Given the description of an element on the screen output the (x, y) to click on. 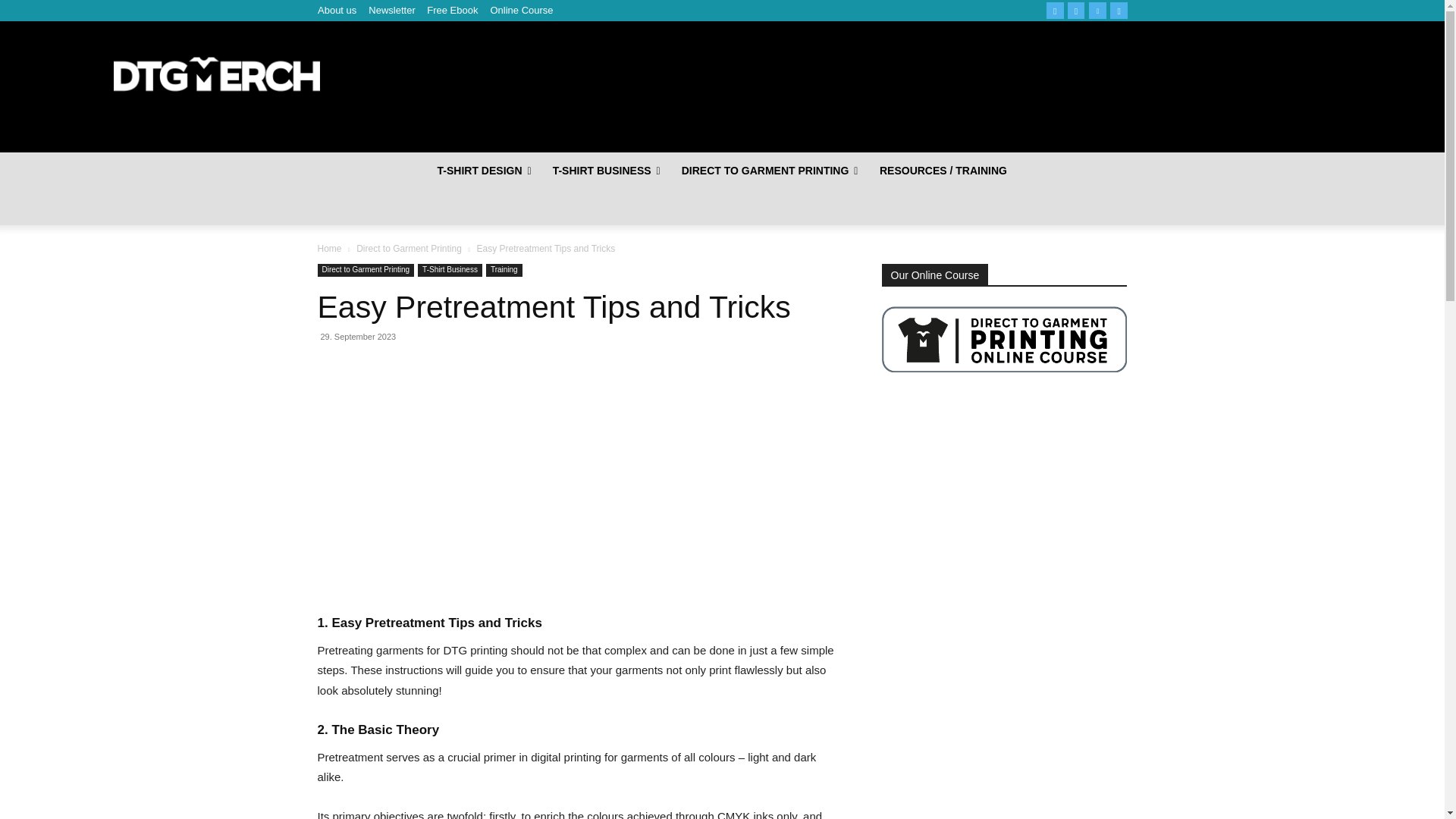
Newsletter (391, 10)
About us (336, 10)
Youtube (1117, 9)
Facebook (1055, 9)
Free Ebook (451, 10)
T-SHIRT DESIGN (483, 170)
Linkedin (1097, 9)
Instagram (1075, 9)
Online Course (521, 10)
